Given the description of an element on the screen output the (x, y) to click on. 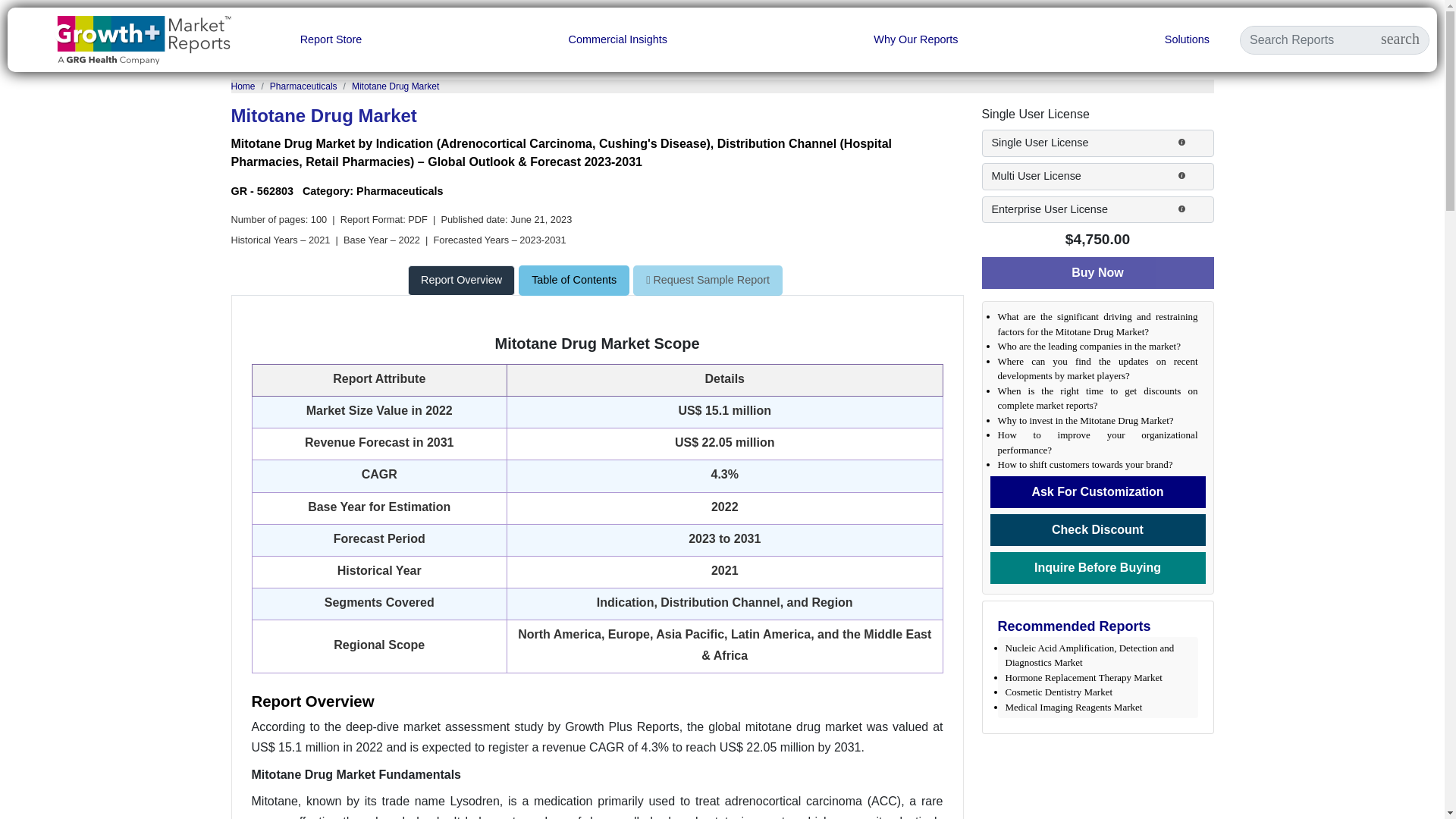
search (1400, 39)
Solutions (1186, 39)
Medical Imaging Reagents Market (1074, 706)
Buy Now (1096, 273)
Inquire Before Buying (1097, 567)
Hormone Replacement Therapy Market (1083, 677)
Check Discount (1097, 530)
Commercial Insights (617, 39)
Request Sample Report (708, 280)
Report Store (330, 39)
Ask For Customization (1097, 491)
Pharmaceuticals (303, 86)
Nucleic Acid Amplification, Detection and Diagnostics Market (1090, 655)
Home (242, 86)
Table of Contents (575, 279)
